Given the description of an element on the screen output the (x, y) to click on. 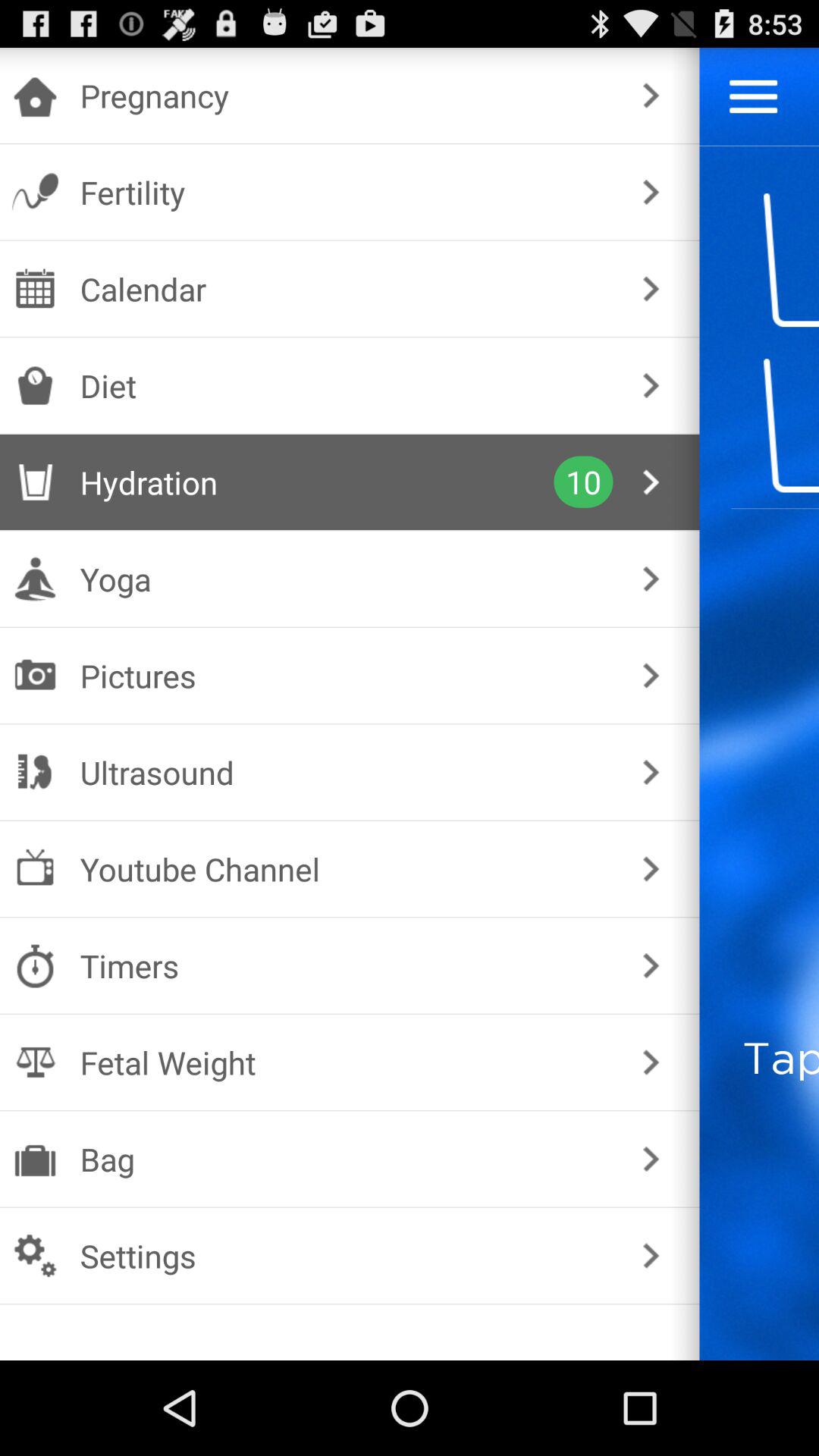
press the fertility item (346, 191)
